Given the description of an element on the screen output the (x, y) to click on. 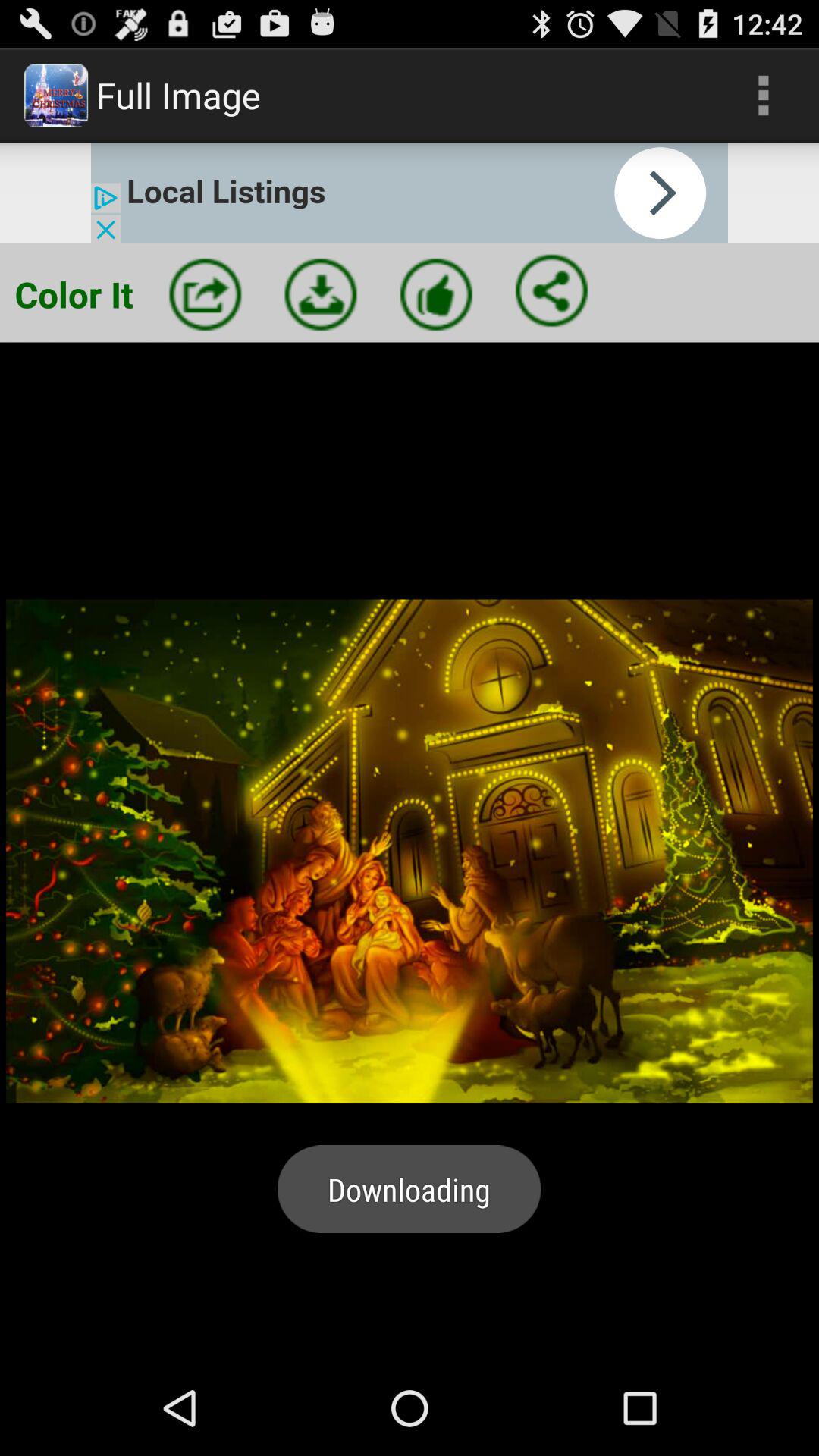
share image (551, 290)
